Given the description of an element on the screen output the (x, y) to click on. 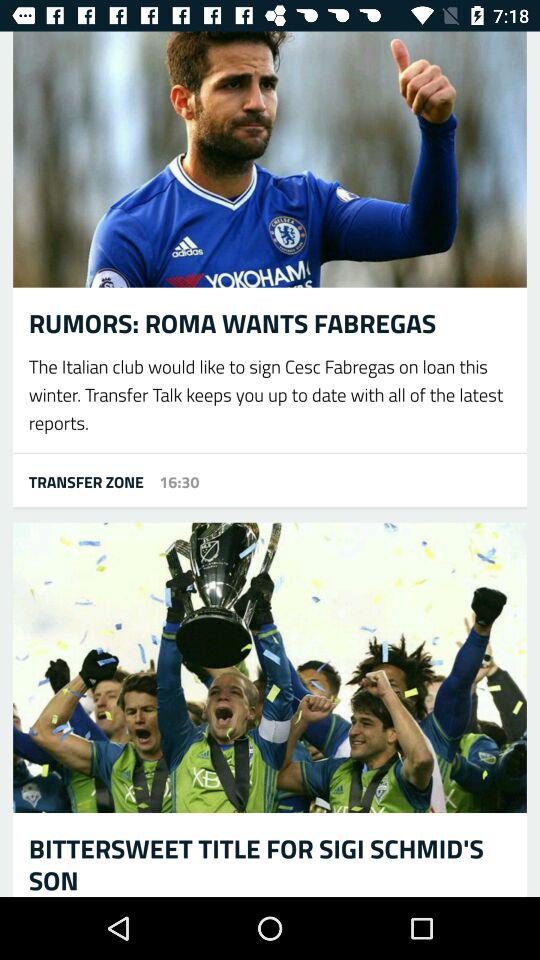
flip until transfer zone icon (78, 481)
